Given the description of an element on the screen output the (x, y) to click on. 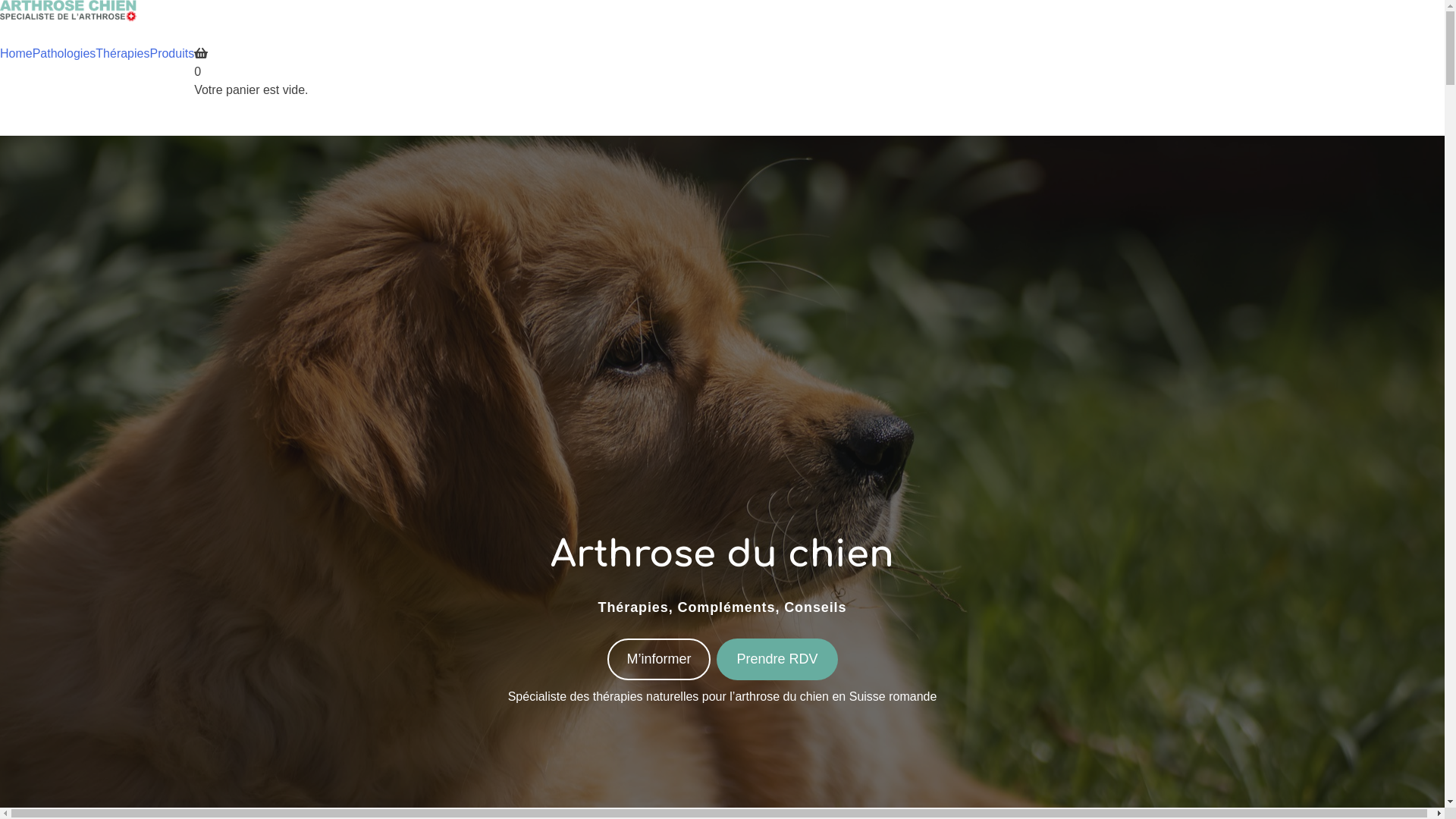
Pathologies Element type: text (64, 53)
Prendre RDV Element type: text (776, 659)
Home Element type: text (16, 53)
Produits Element type: text (171, 53)
